Given the description of an element on the screen output the (x, y) to click on. 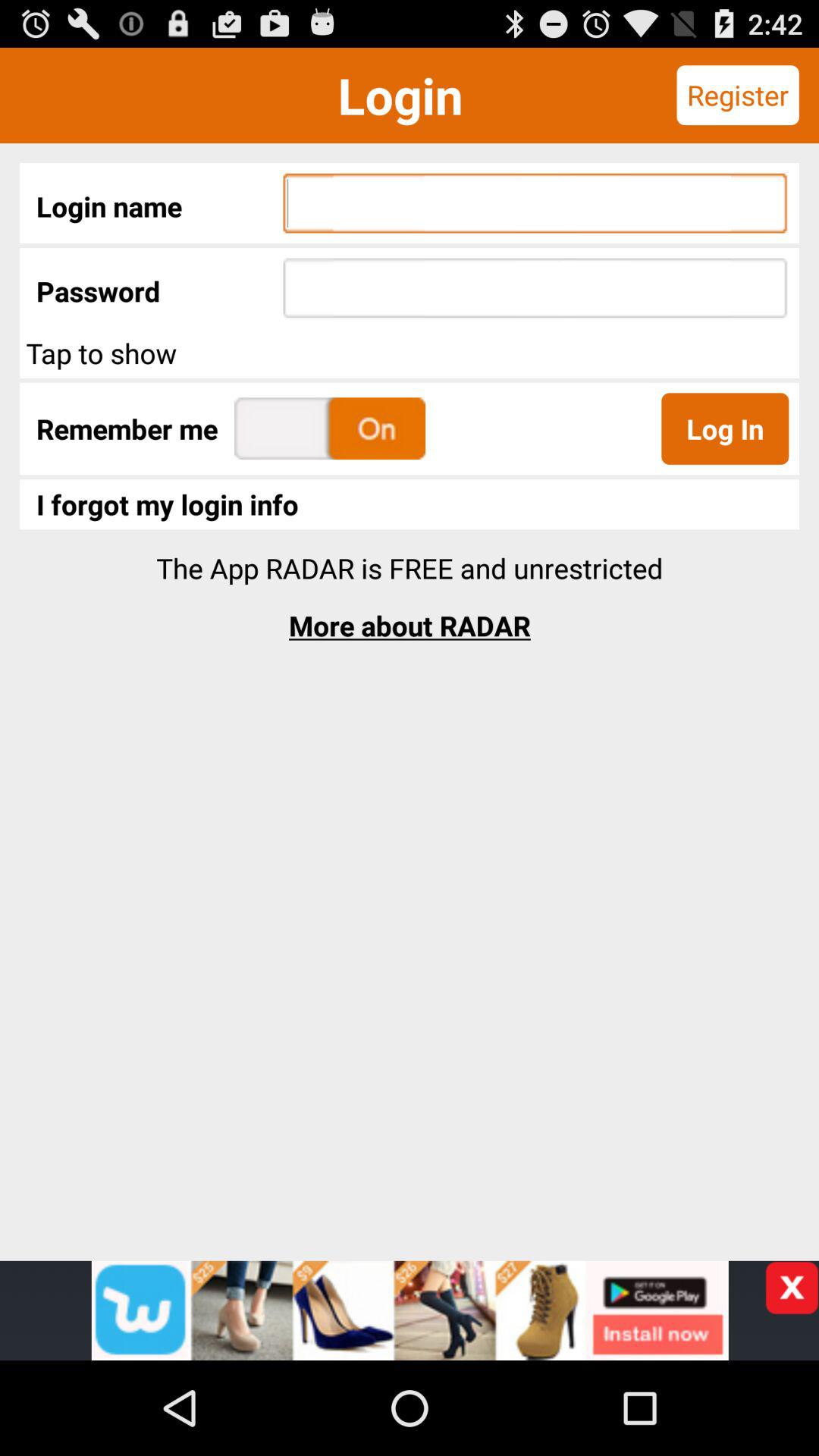
click off or on to remember me (329, 428)
